Given the description of an element on the screen output the (x, y) to click on. 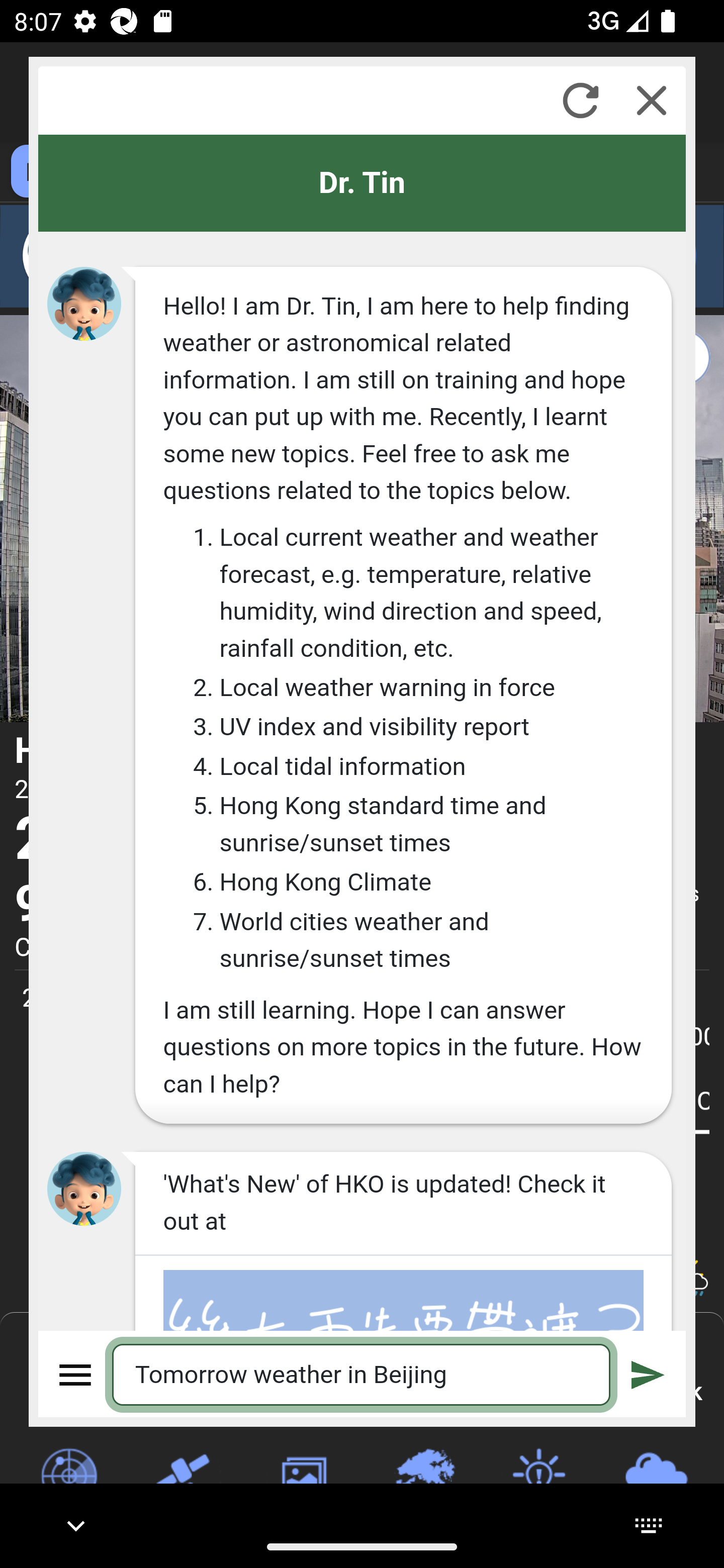
Refresh (580, 100)
Close (651, 100)
Menu (75, 1374)
Submit (648, 1374)
Tomorrow weather in Beijing (361, 1374)
